Given the description of an element on the screen output the (x, y) to click on. 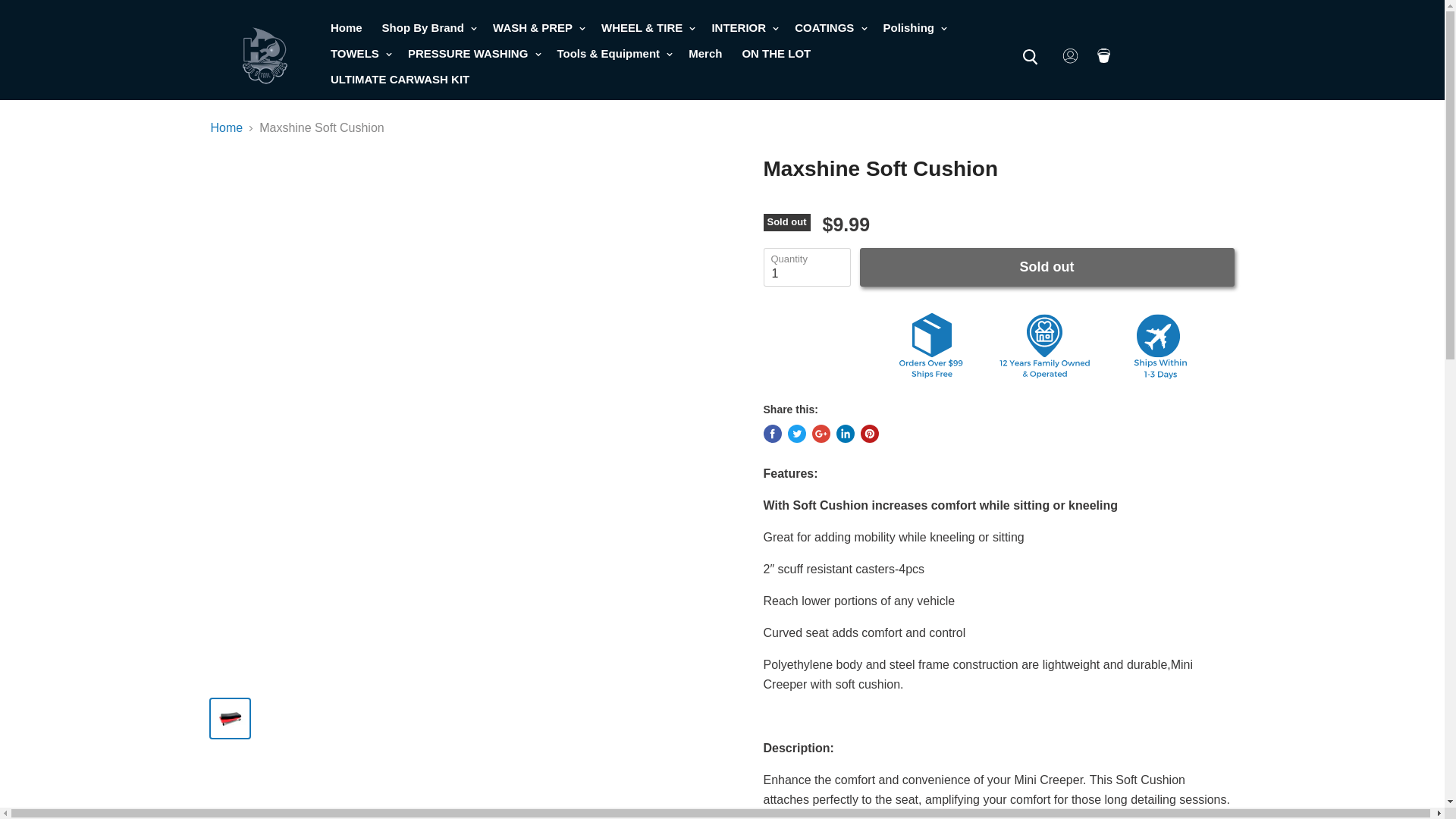
Shop By Brand (427, 28)
INTERIOR (742, 28)
COATINGS (828, 28)
Home (346, 28)
1 (806, 266)
